Given the description of an element on the screen output the (x, y) to click on. 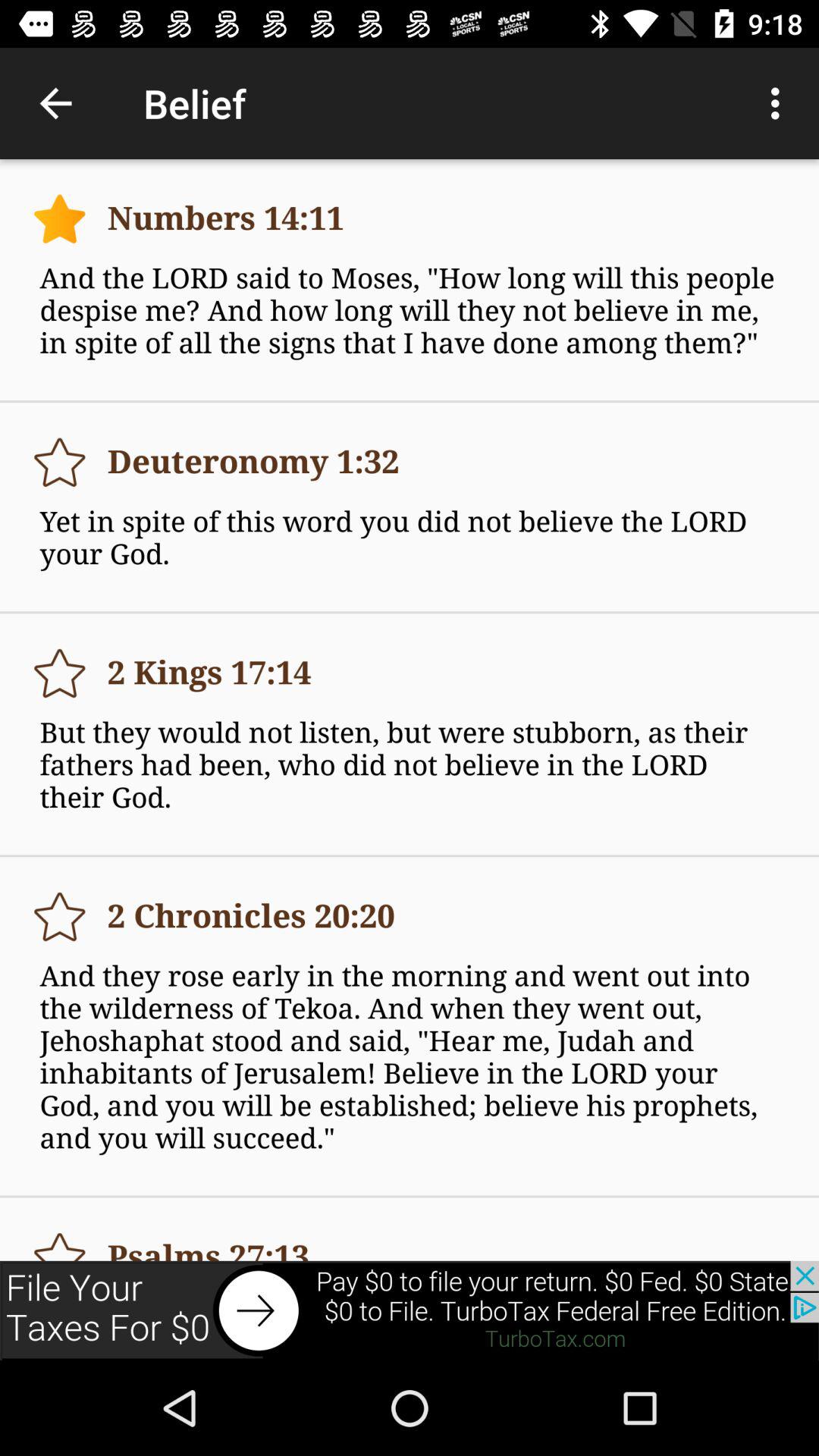
mark as favorite (59, 462)
